Given the description of an element on the screen output the (x, y) to click on. 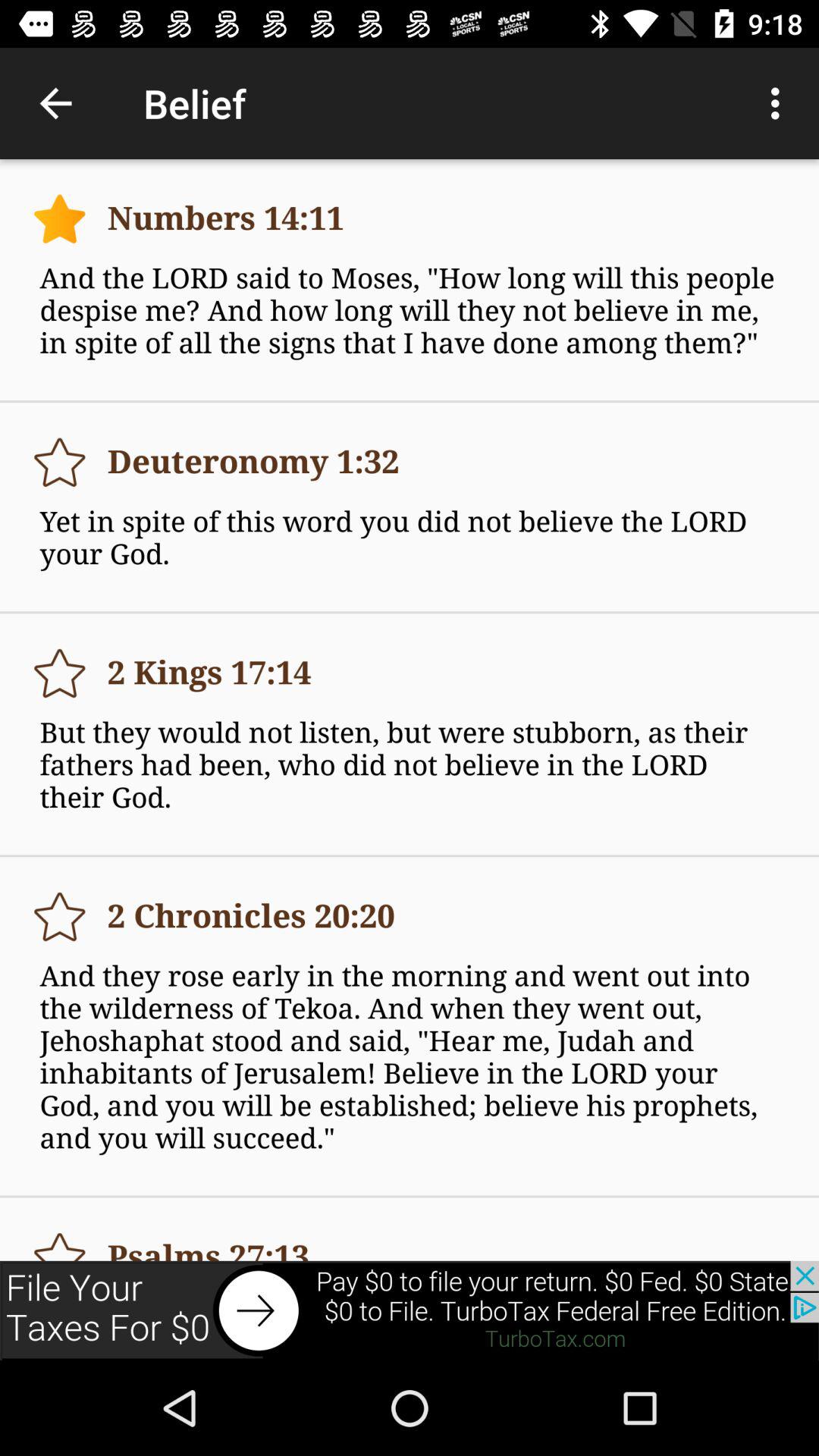
mark as favorite (59, 462)
